Given the description of an element on the screen output the (x, y) to click on. 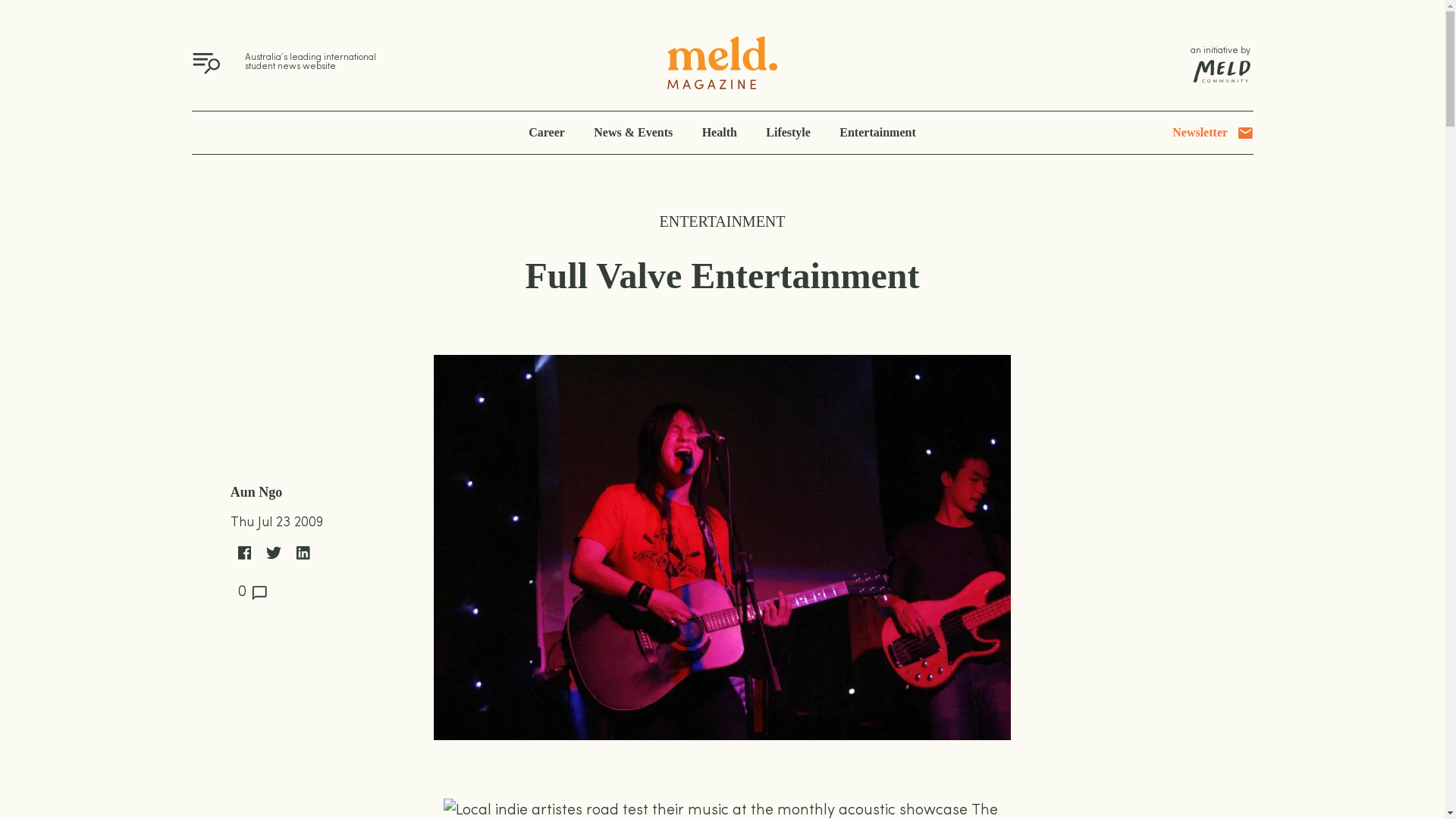
Lifestyle Element type: text (787, 132)
Menu Icon Element type: text (205, 64)
Entertainment Element type: text (877, 132)
News & Events Element type: text (632, 132)
0Magnifying Glass Icon Element type: text (252, 593)
Meld Element type: text (722, 64)
Health Element type: text (719, 132)
Aun Ngo Element type: text (256, 492)
Career Element type: text (546, 132)
ENTERTAINMENT Element type: text (722, 221)
Newsletter Element type: text (1212, 132)
an initiative by Element type: text (1221, 64)
